Given the description of an element on the screen output the (x, y) to click on. 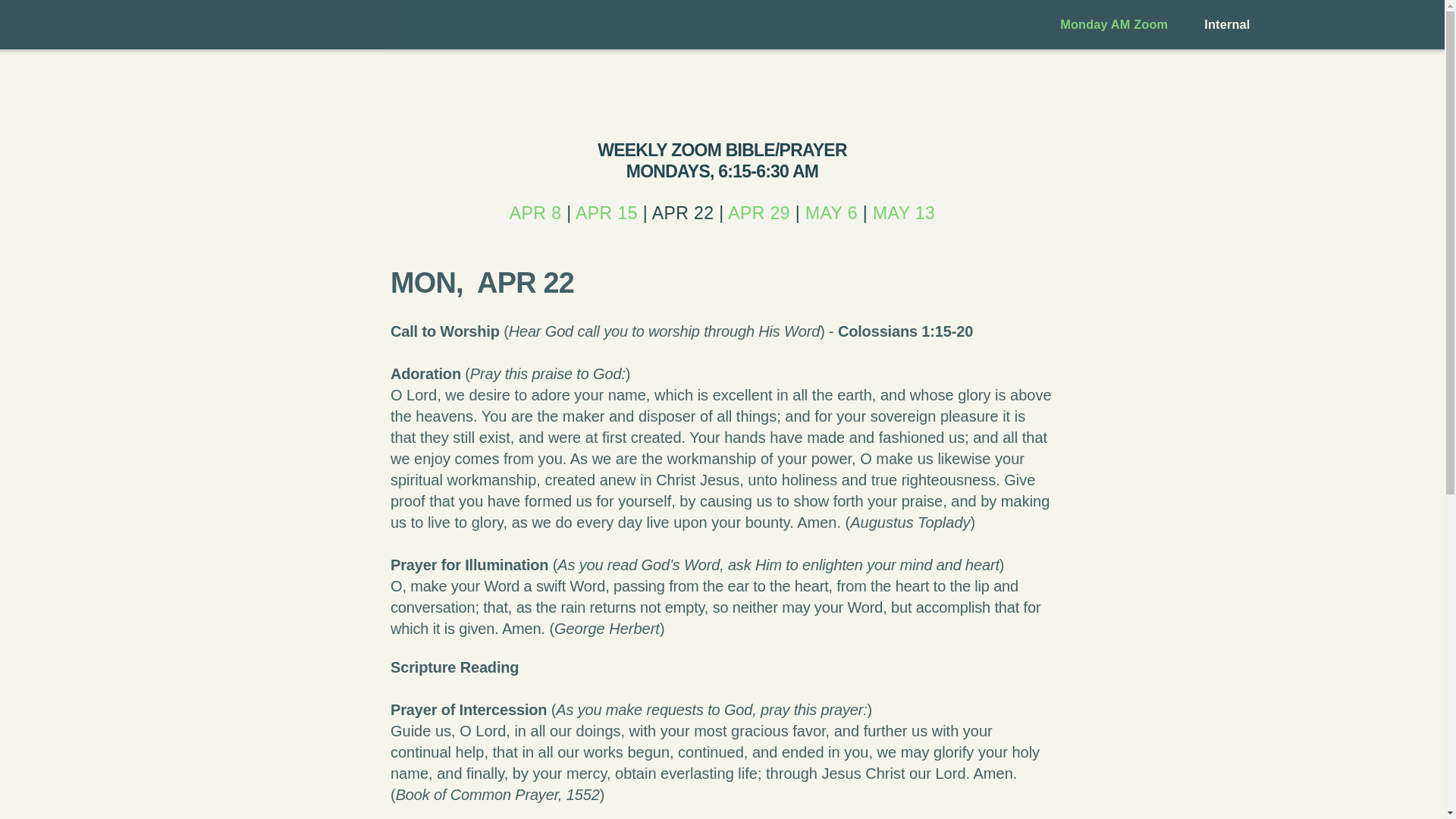
MAY 6 (831, 212)
APR 29 (759, 212)
Internal (1227, 24)
Monday AM Zoom (1114, 24)
APR 8 (535, 212)
APR 15 (606, 212)
MAY 13 (903, 212)
